Given the description of an element on the screen output the (x, y) to click on. 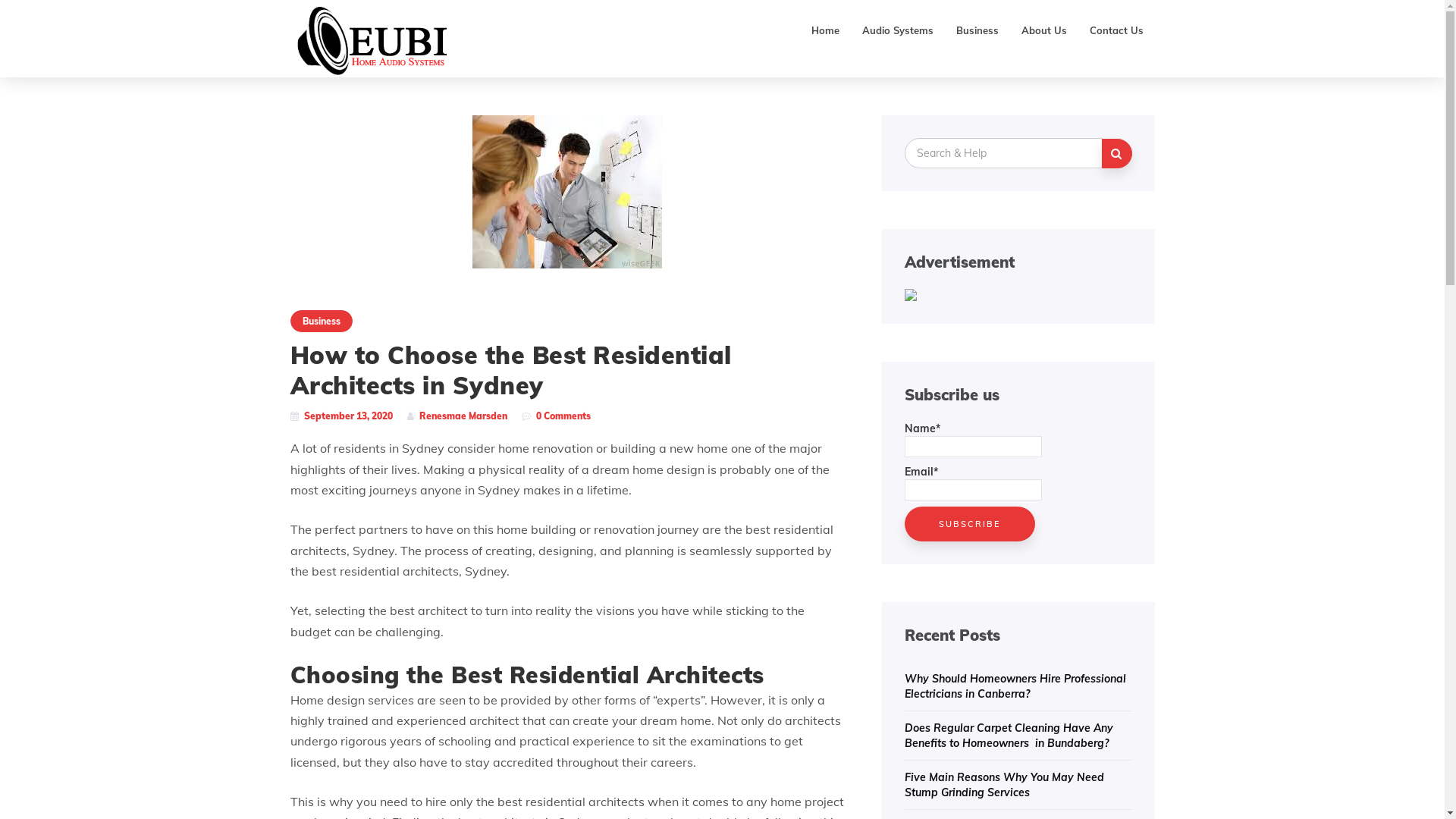
Contact Us Element type: text (1116, 30)
Subscribe Element type: text (968, 523)
0 Comments Element type: text (562, 415)
Search Element type: text (1116, 152)
How to Choose the Best Residential Architects in Sydney Element type: hover (566, 190)
About Us Element type: text (1044, 30)
Search for: Element type: hover (1002, 153)
Audio Systems Element type: text (897, 30)
Business Element type: text (320, 321)
Five Main Reasons Why You May Need Stump Grinding Services Element type: text (1003, 784)
Business Element type: text (977, 30)
Home Element type: text (824, 30)
Renesmae Marsden Element type: text (462, 415)
